Given the description of an element on the screen output the (x, y) to click on. 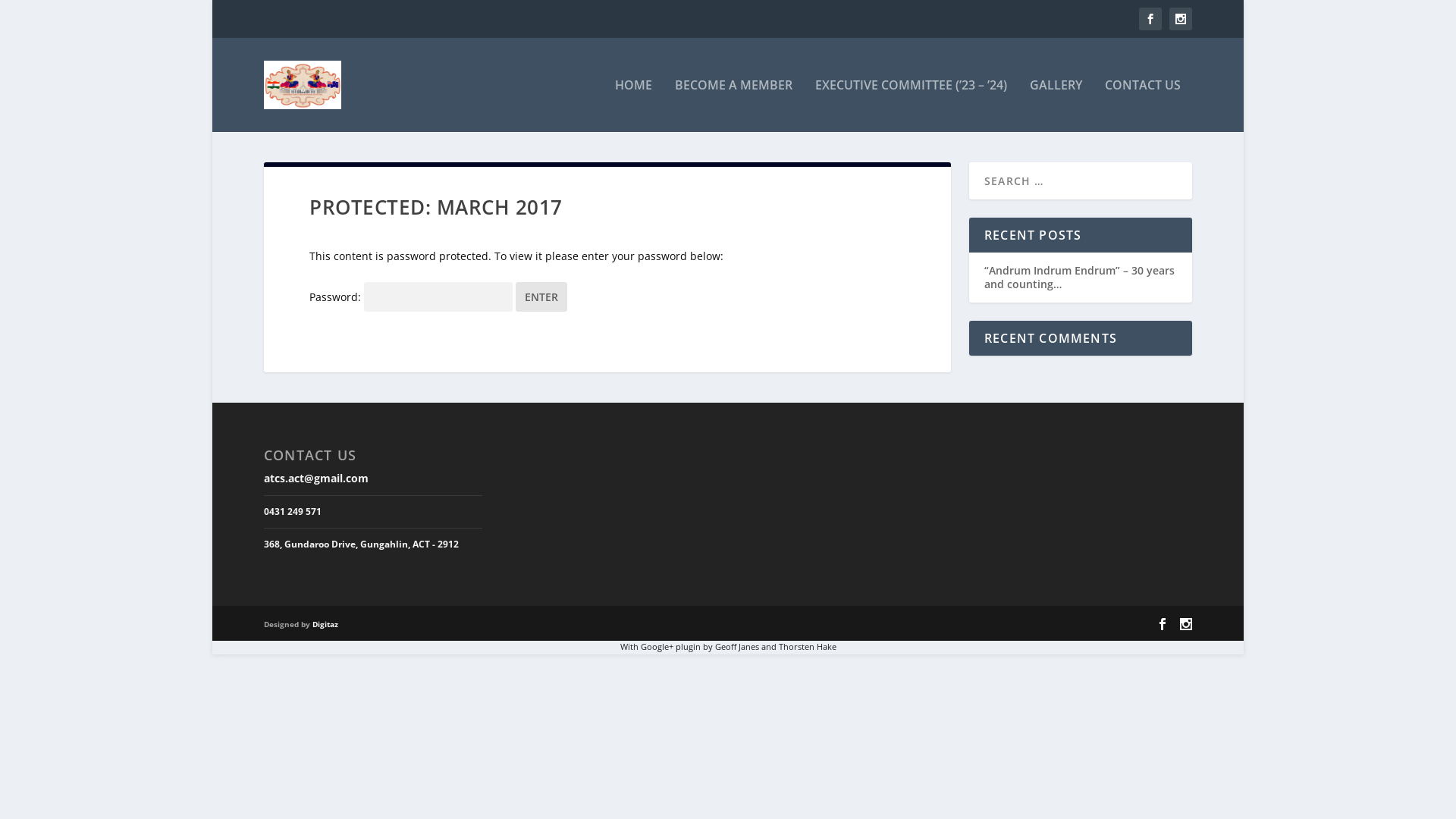
Digitaz Element type: text (325, 623)
HOME Element type: text (633, 104)
atcs.act@gmail.com Element type: text (315, 477)
With Google+ plugin by Geoff Janes and Thorsten Hake Element type: text (728, 646)
BECOME A MEMBER Element type: text (733, 104)
GALLERY Element type: text (1055, 104)
Search Element type: text (29, 14)
Enter Element type: text (541, 296)
CONTACT US Element type: text (1142, 104)
